Given the description of an element on the screen output the (x, y) to click on. 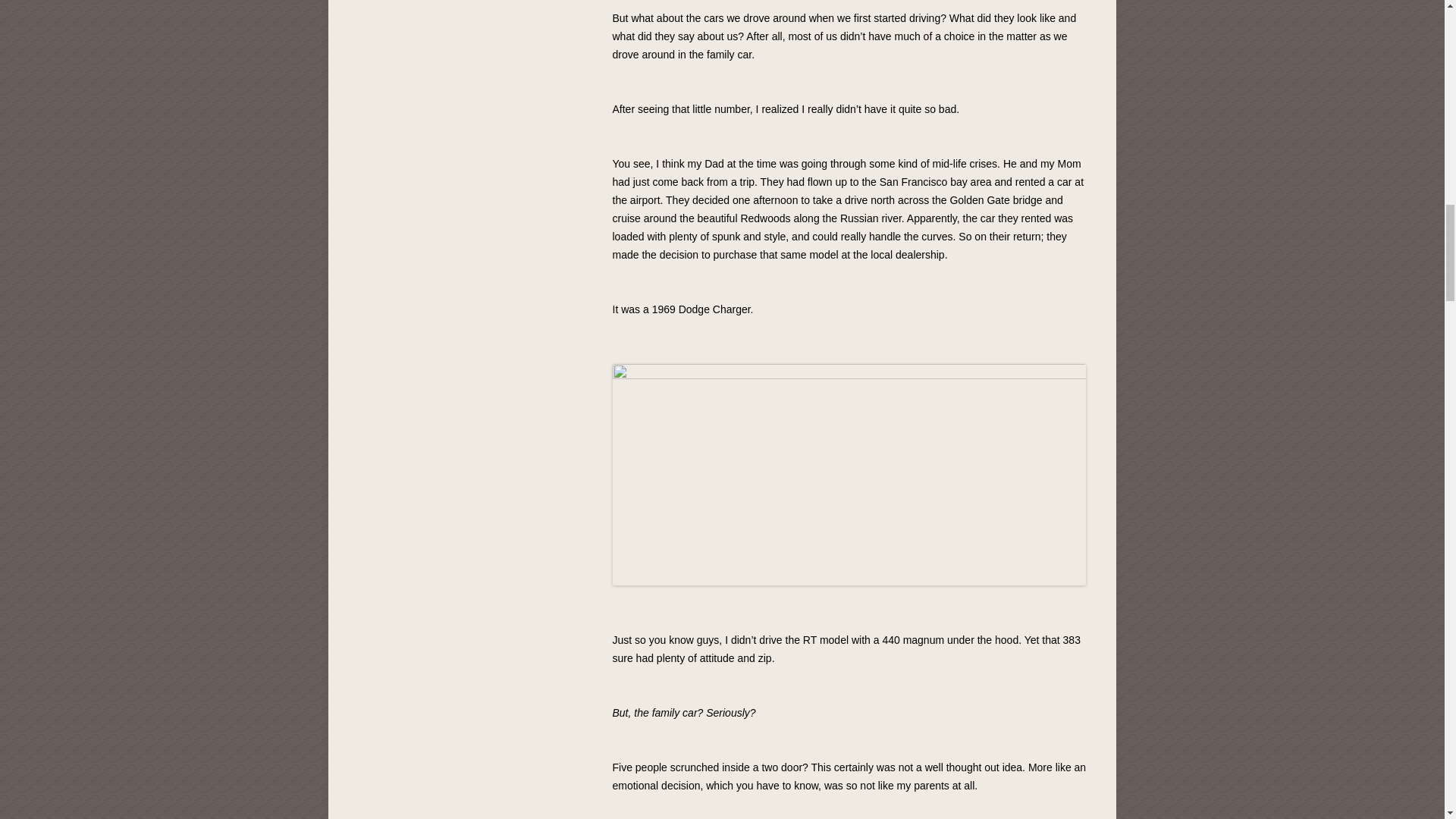
'69 Dodge Charger (849, 474)
